Given the description of an element on the screen output the (x, y) to click on. 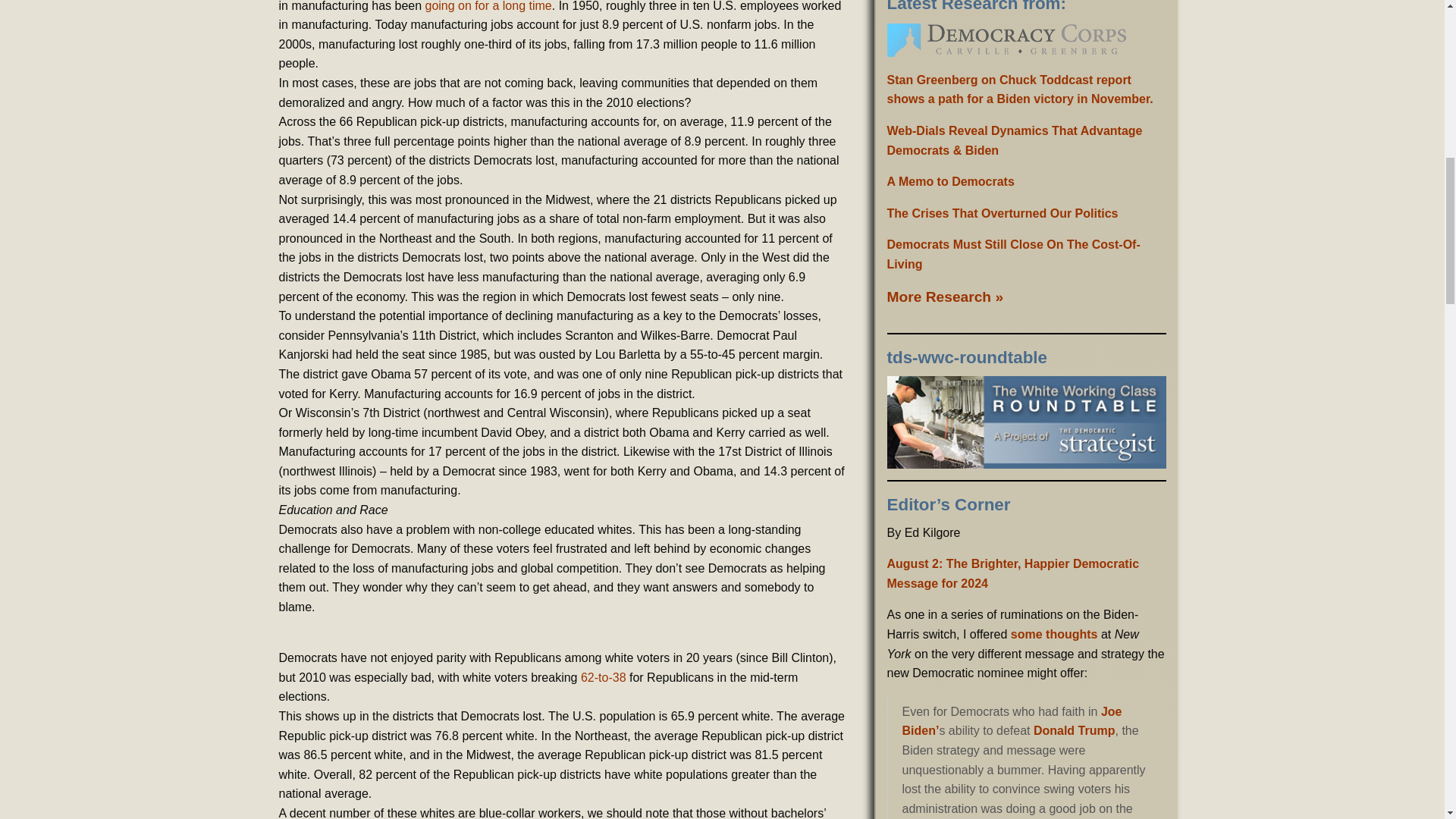
going on for a long time (488, 6)
tds-wwc-roundtable (1026, 422)
62-to-38 (603, 676)
August 2: The Brighter, Happier Democratic Message for 2024 (1013, 573)
A Memo to Democrats (950, 181)
